Given the description of an element on the screen output the (x, y) to click on. 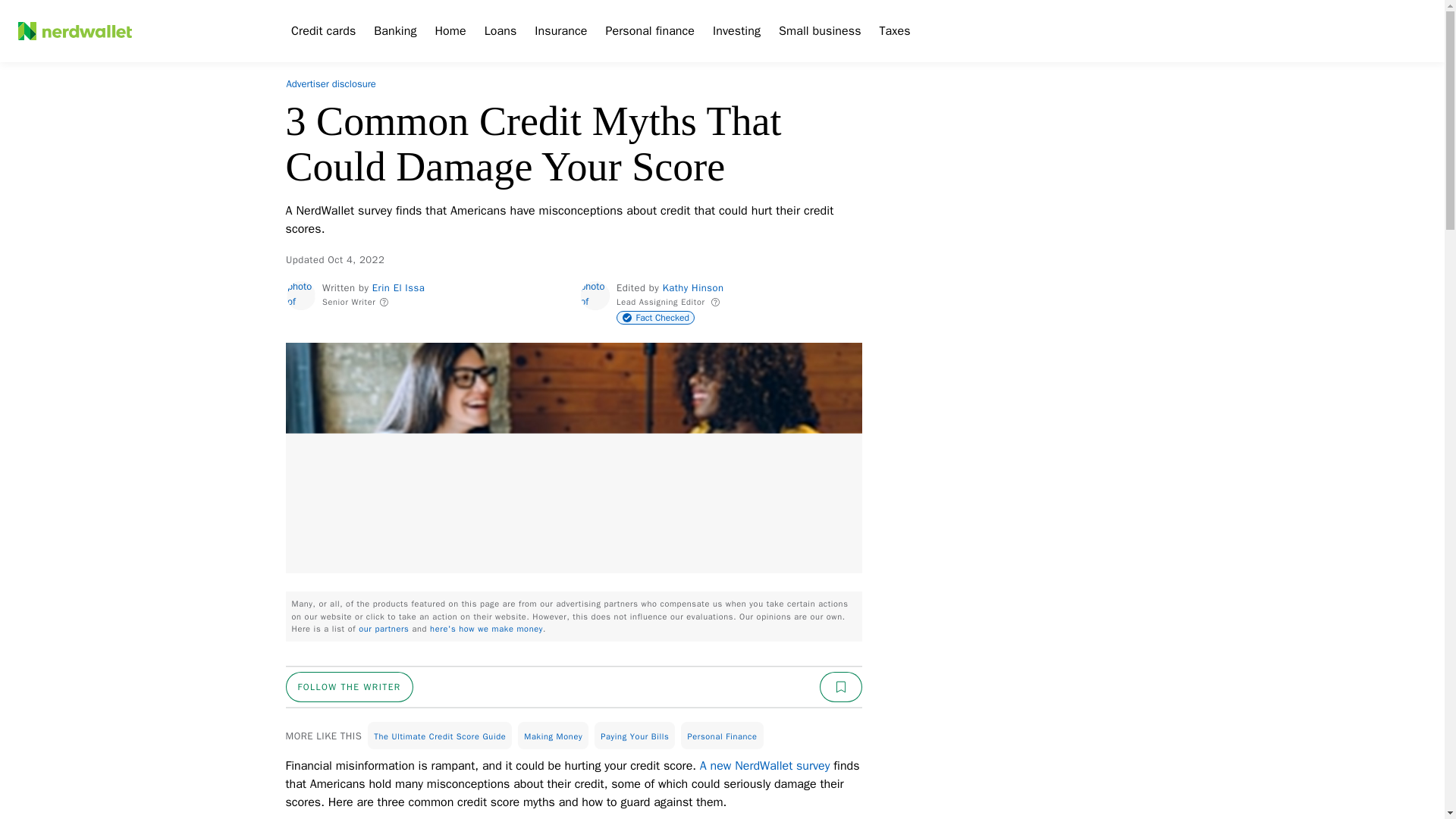
Advertiser Disclosure (330, 84)
